Given the description of an element on the screen output the (x, y) to click on. 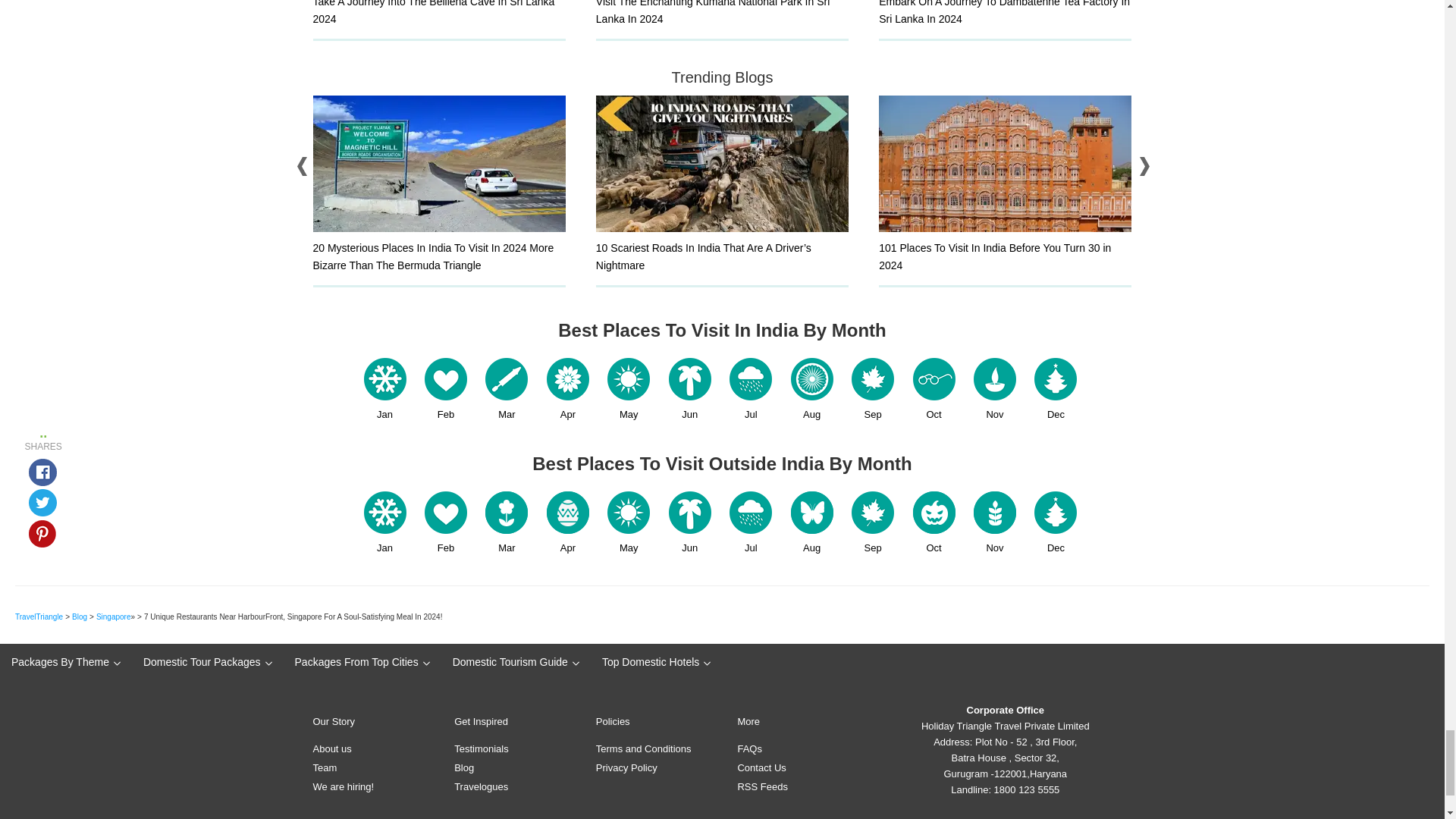
Blog (79, 616)
View all posts in Singapore (113, 616)
TravelTriangle (38, 616)
